Given the description of an element on the screen output the (x, y) to click on. 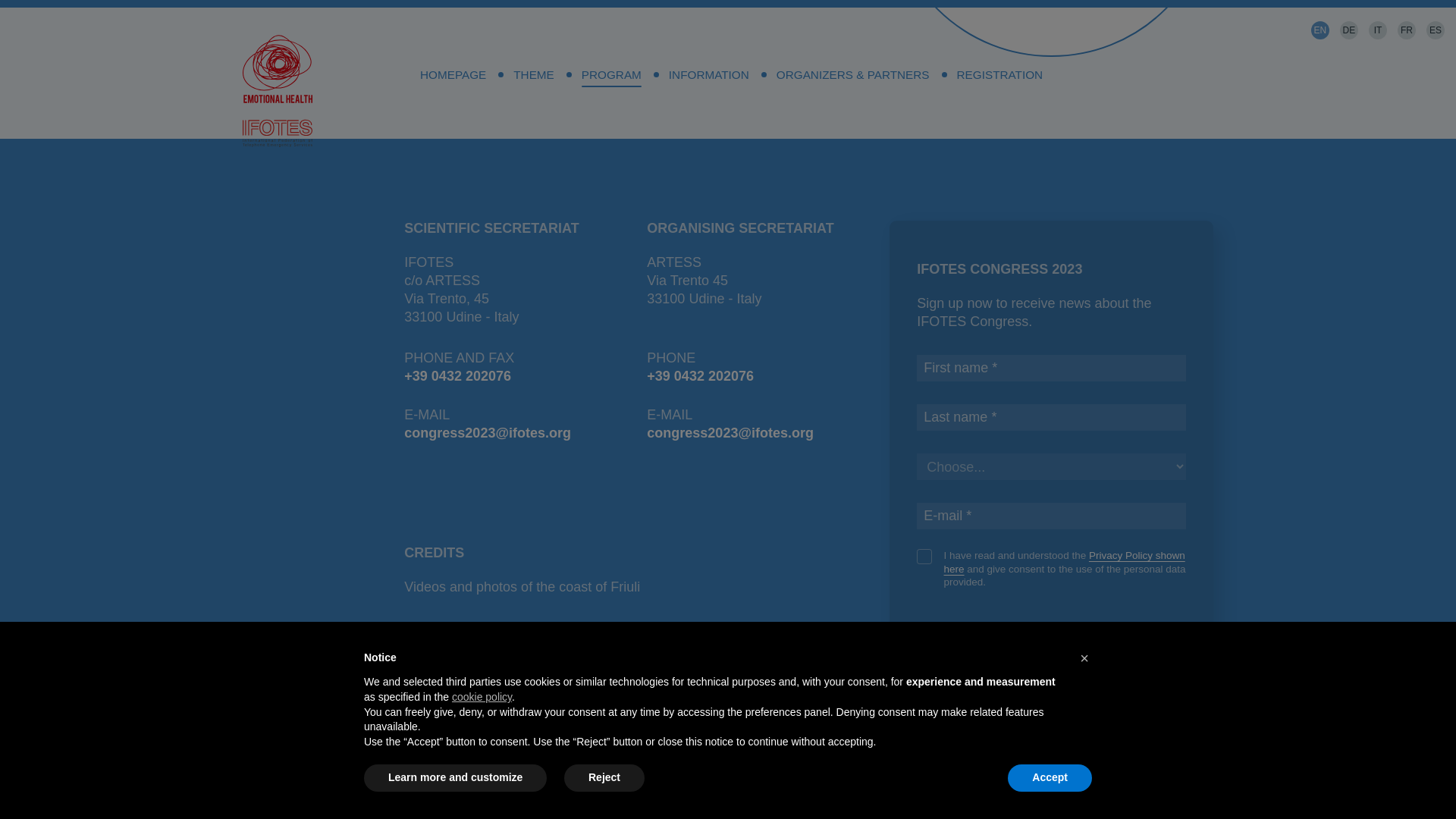
Country (1051, 466)
